Given the description of an element on the screen output the (x, y) to click on. 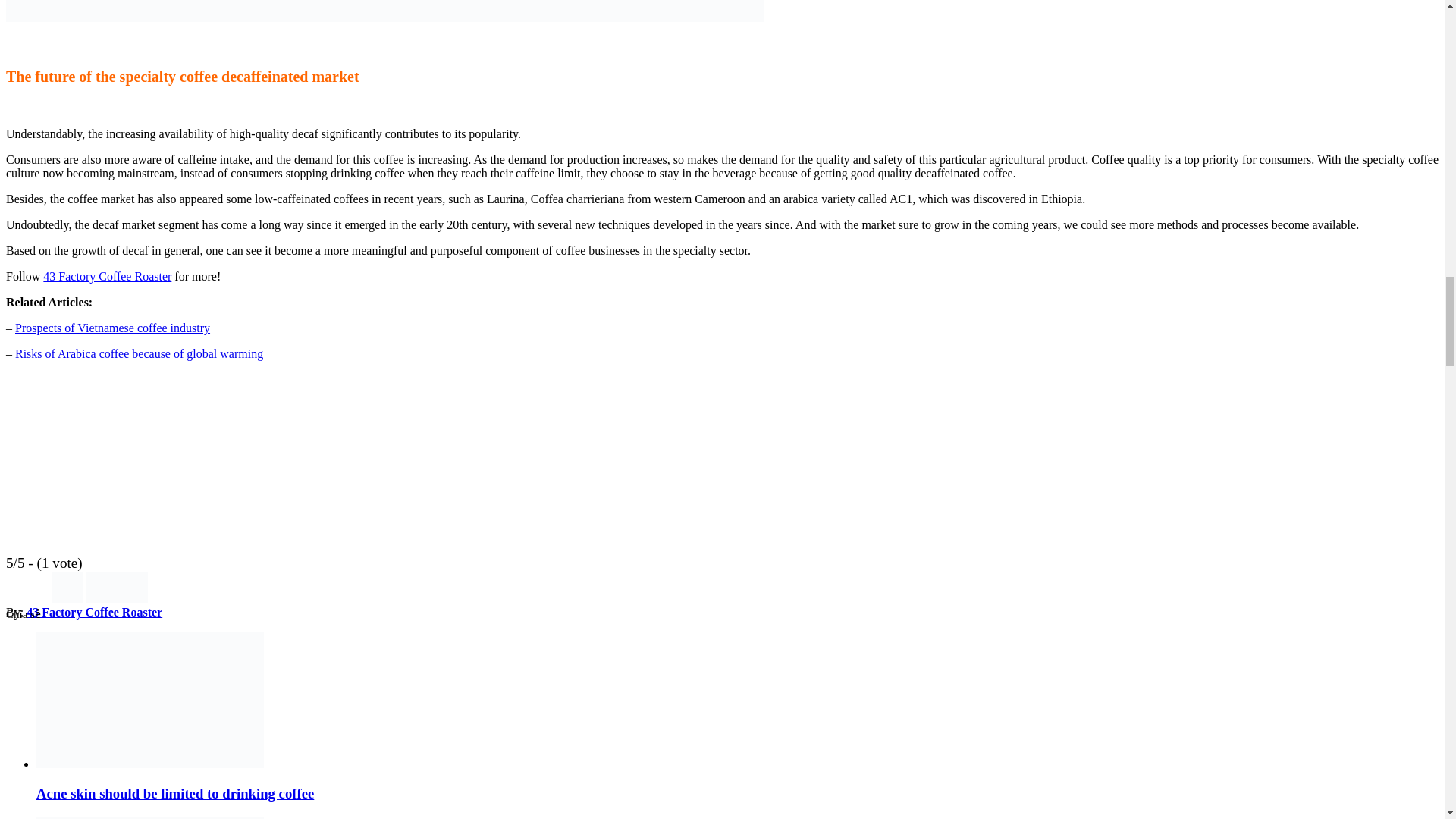
43 Factory Coffee Roaster (107, 276)
Prospects of Vietnamese coffee industry (111, 327)
43 Factory Coffee Roaster (93, 612)
Risks of Arabica coffee because of global warming (138, 353)
Acne skin should be limited to drinking coffee (175, 793)
